Given the description of an element on the screen output the (x, y) to click on. 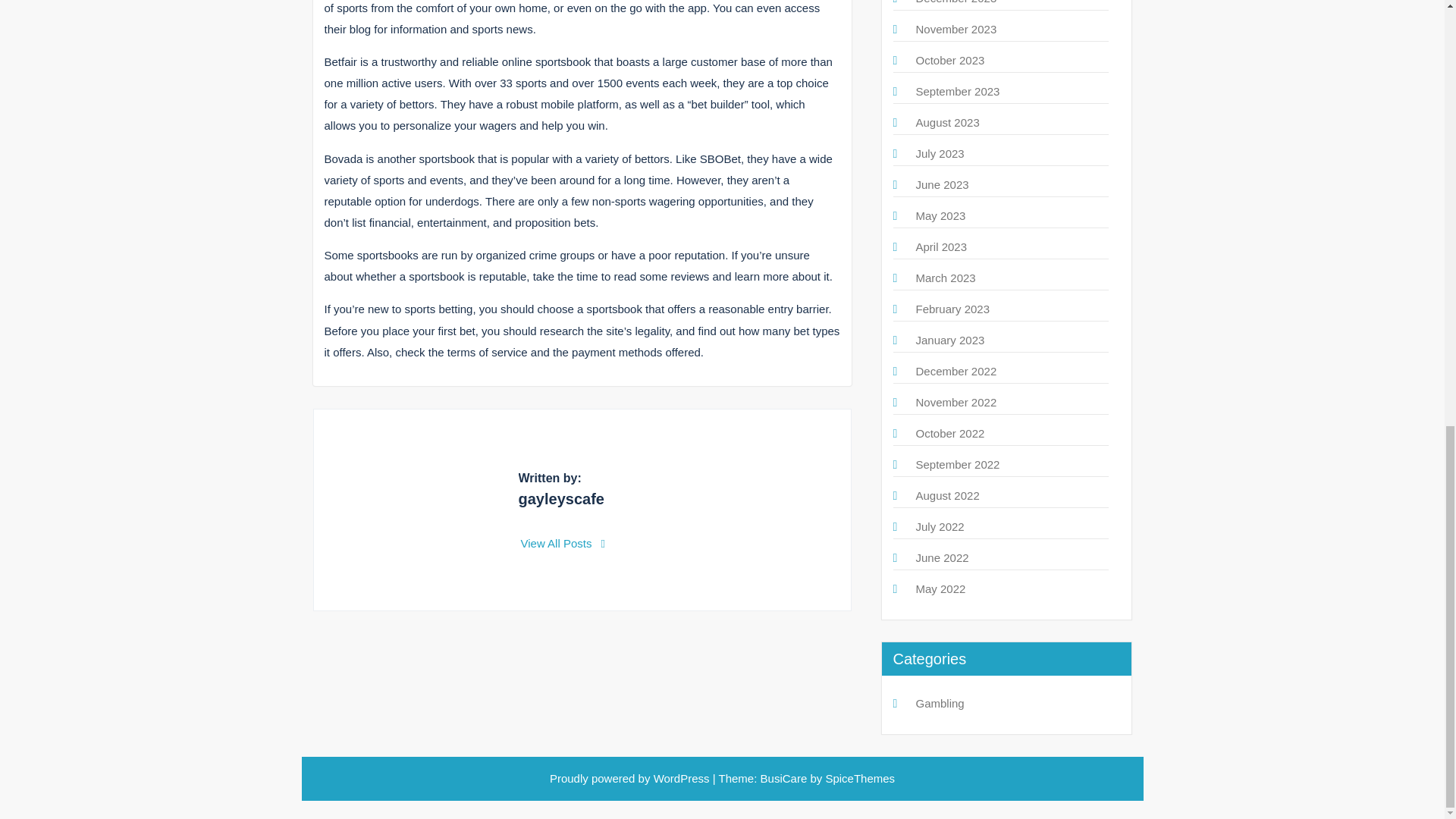
October 2023 (950, 60)
May 2022 (940, 588)
December 2023 (956, 2)
View All Posts (562, 543)
June 2023 (942, 184)
December 2022 (956, 370)
September 2022 (957, 463)
February 2023 (952, 308)
August 2023 (947, 122)
June 2022 (942, 557)
